Given the description of an element on the screen output the (x, y) to click on. 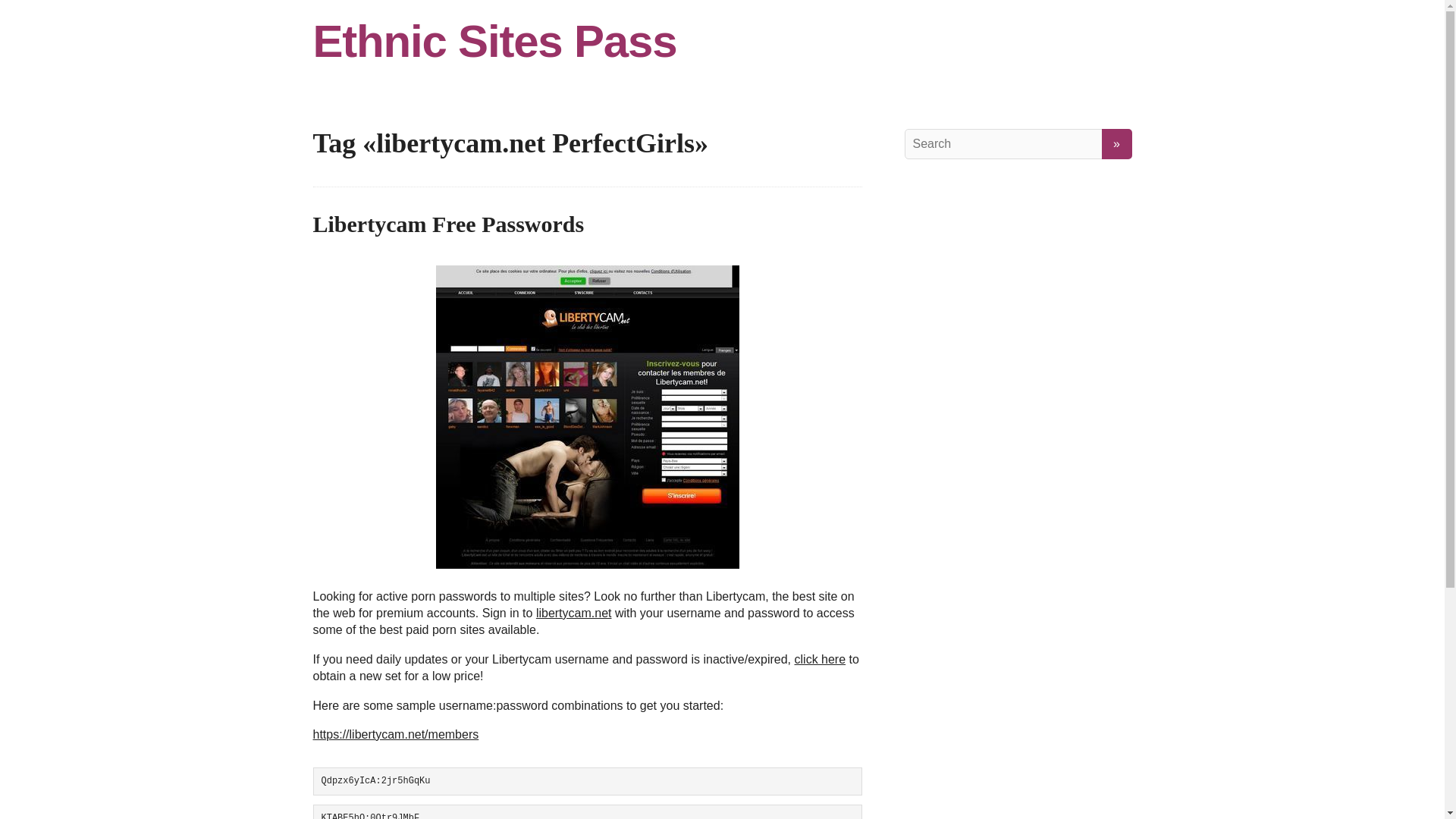
Ethnic Sites Pass (722, 41)
Libertycam Free Passwords (448, 223)
libertycam.net (573, 612)
Ethnic Sites Pass (722, 41)
click here (819, 658)
Libertycam Free Passwords (448, 223)
Libertycam (587, 416)
